Given the description of an element on the screen output the (x, y) to click on. 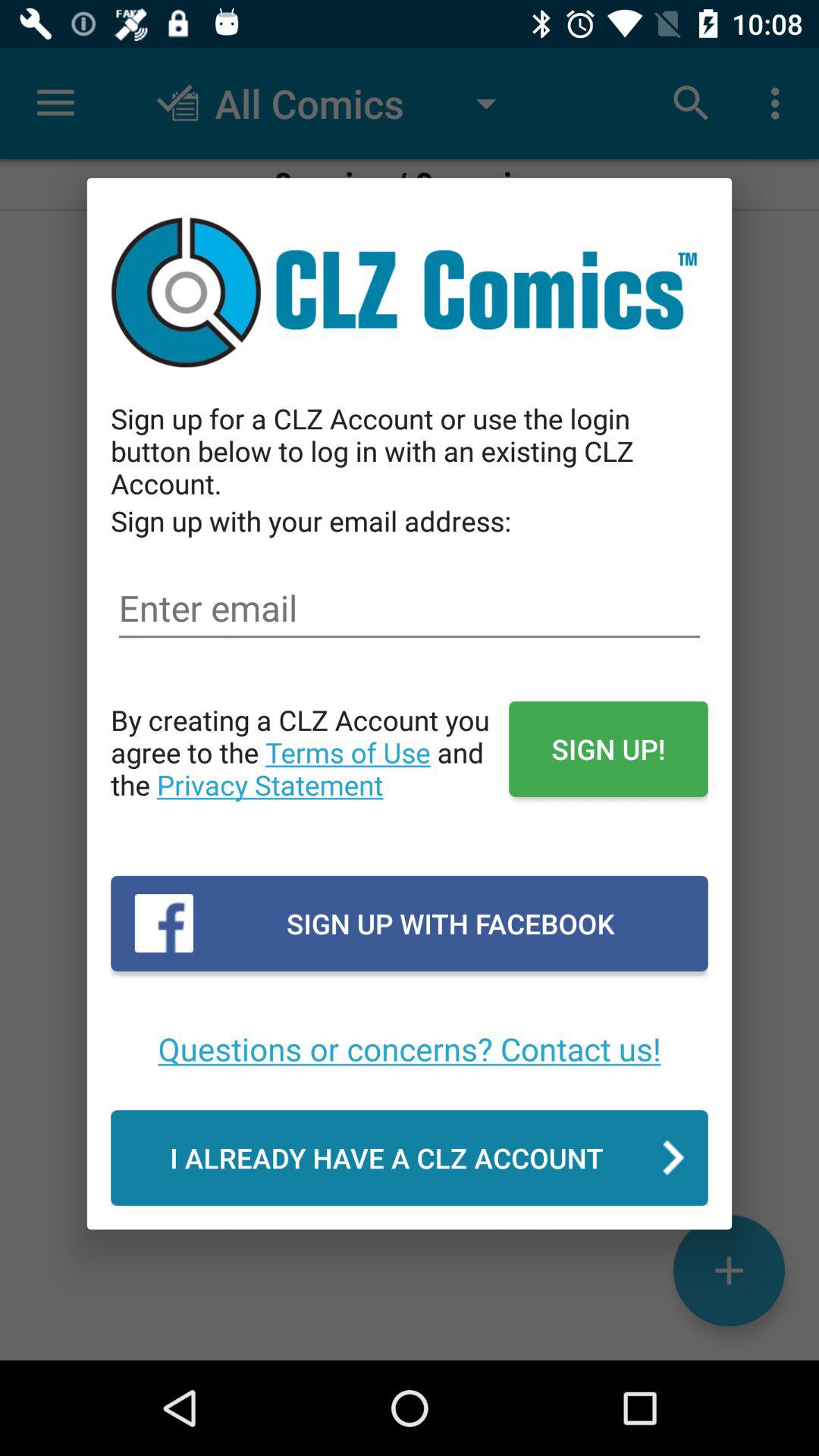
swipe to the by creating a item (309, 768)
